Given the description of an element on the screen output the (x, y) to click on. 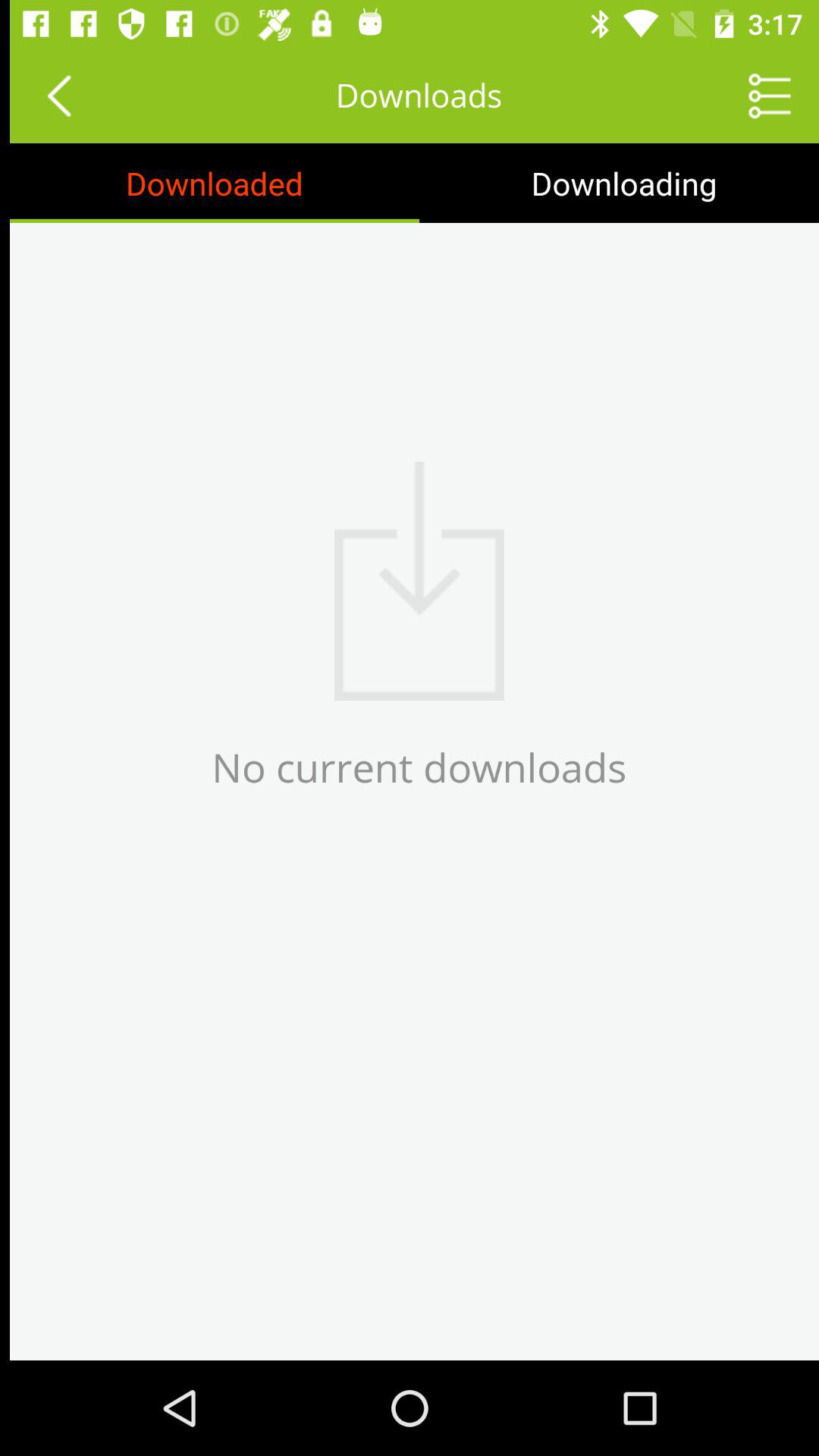
app settings (759, 95)
